Given the description of an element on the screen output the (x, y) to click on. 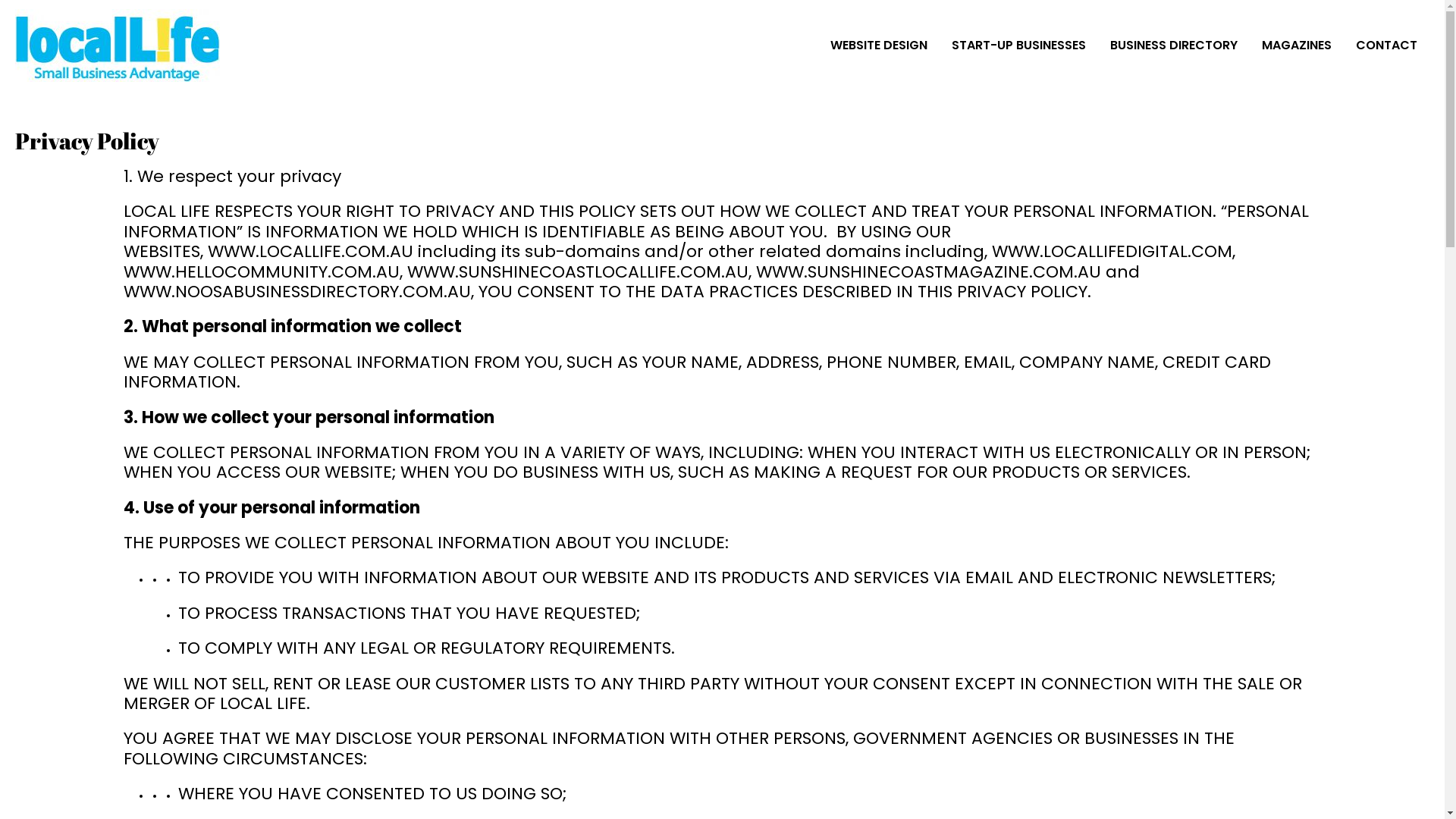
BUSINESS DIRECTORY Element type: text (1173, 45)
WEBSITE DESIGN Element type: text (878, 45)
WWW.LOCALLIFE.COM.AU Element type: text (310, 251)
START-UP BUSINESSES Element type: text (1018, 45)
MAGAZINES Element type: text (1296, 45)
CONTACT Element type: text (1386, 45)
